Given the description of an element on the screen output the (x, y) to click on. 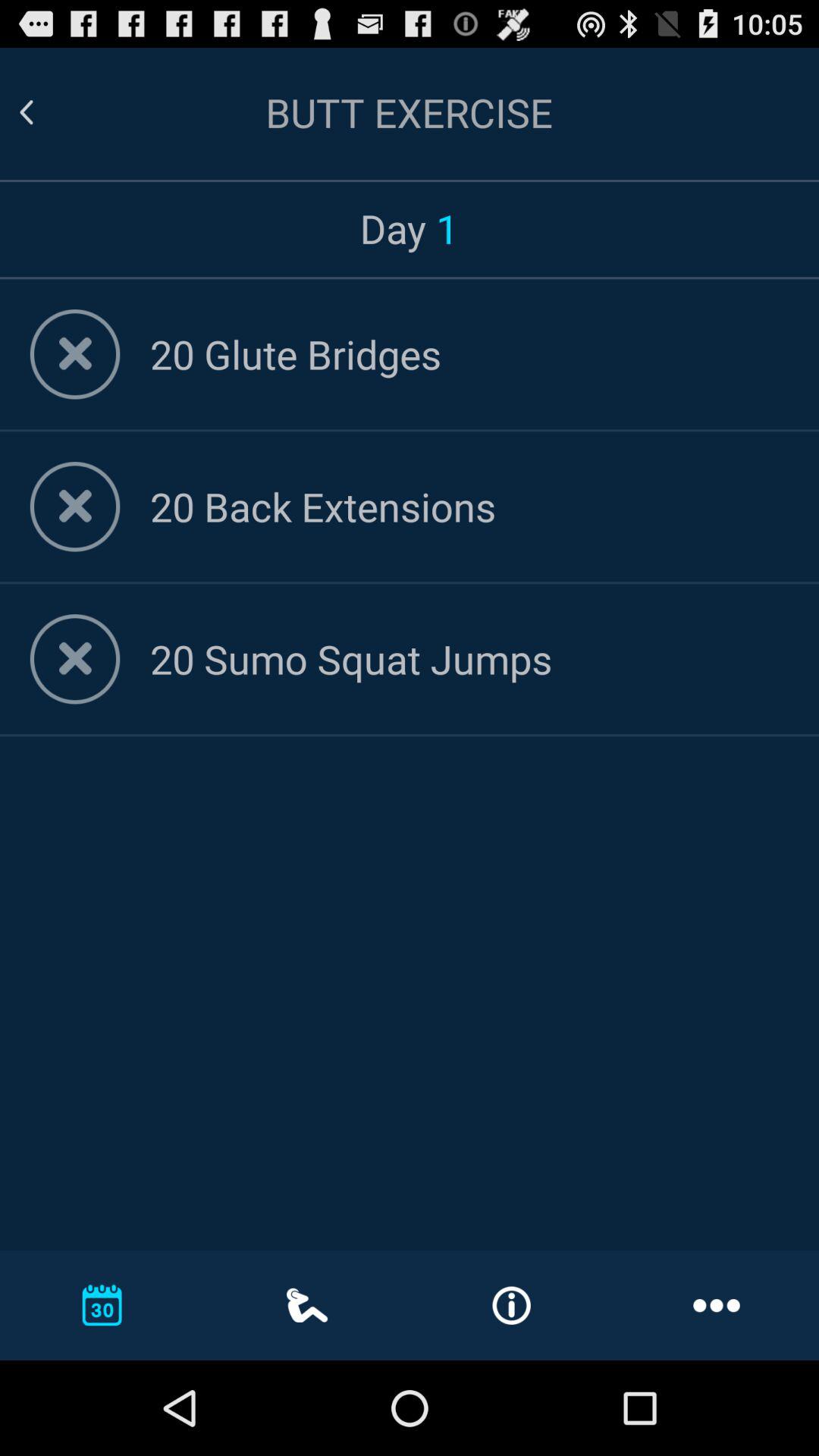
remove 20 glute bridges from butt exercise (75, 354)
